Given the description of an element on the screen output the (x, y) to click on. 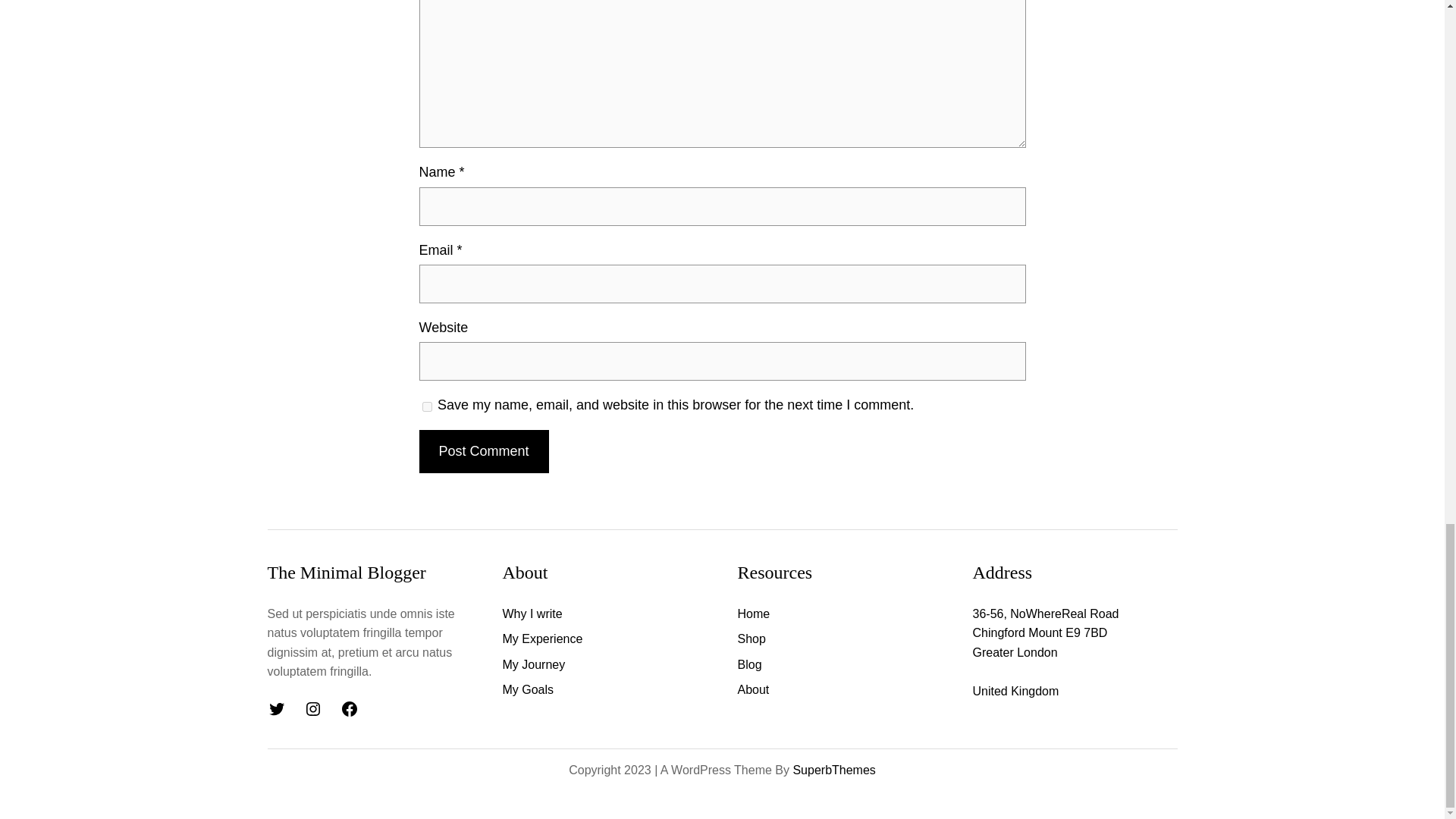
Post Comment (483, 451)
My Experience (542, 639)
Shop (750, 639)
About (752, 690)
Instagram (311, 709)
Blog (748, 664)
Why I write (532, 614)
Post Comment (483, 451)
SuperbThemes (833, 769)
Facebook (348, 709)
Twitter (275, 709)
My Journey (533, 664)
Home (753, 614)
My Goals (527, 690)
